Given the description of an element on the screen output the (x, y) to click on. 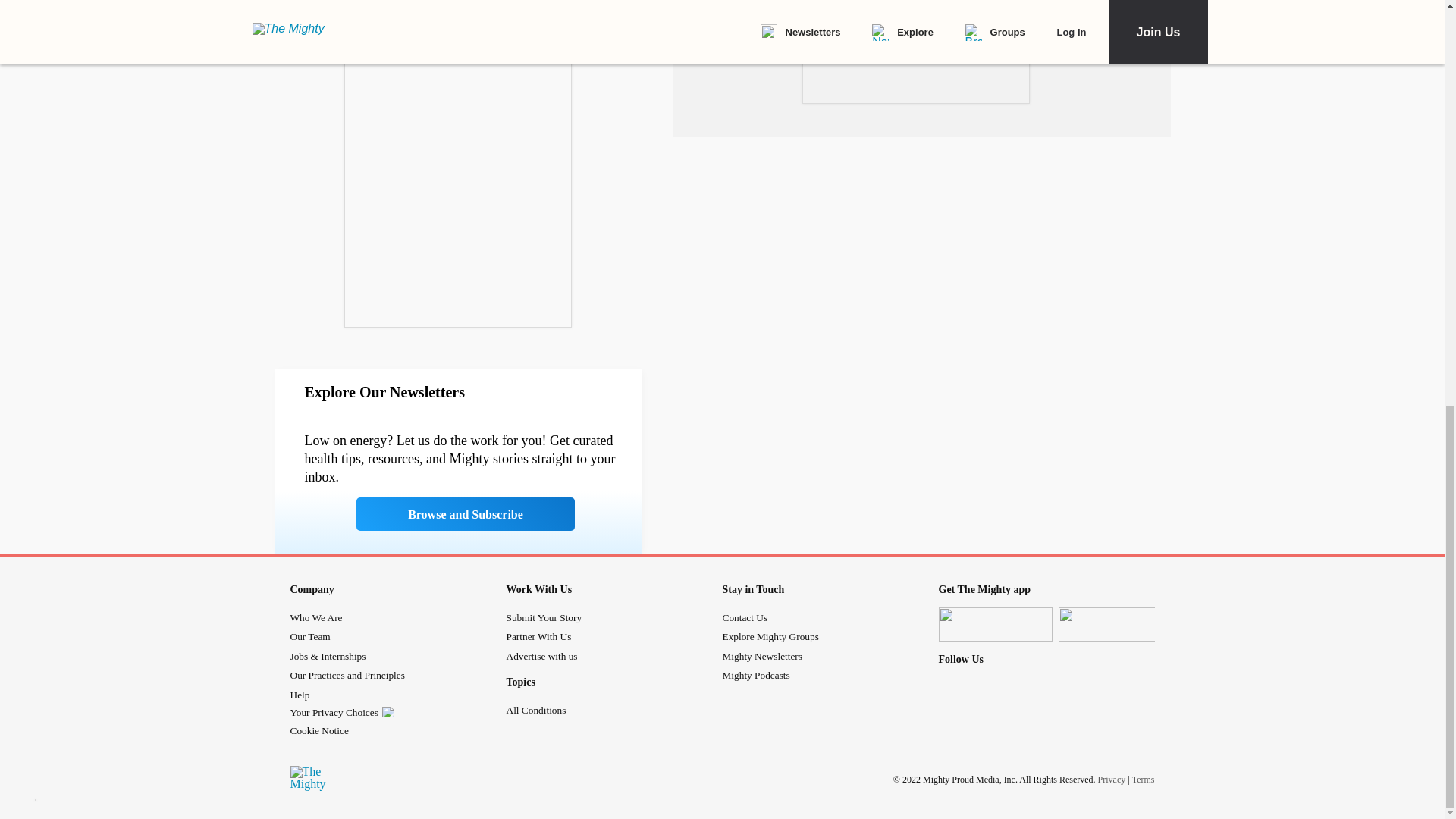
Browse and Subscribe (465, 513)
Who We Are (315, 617)
